Given the description of an element on the screen output the (x, y) to click on. 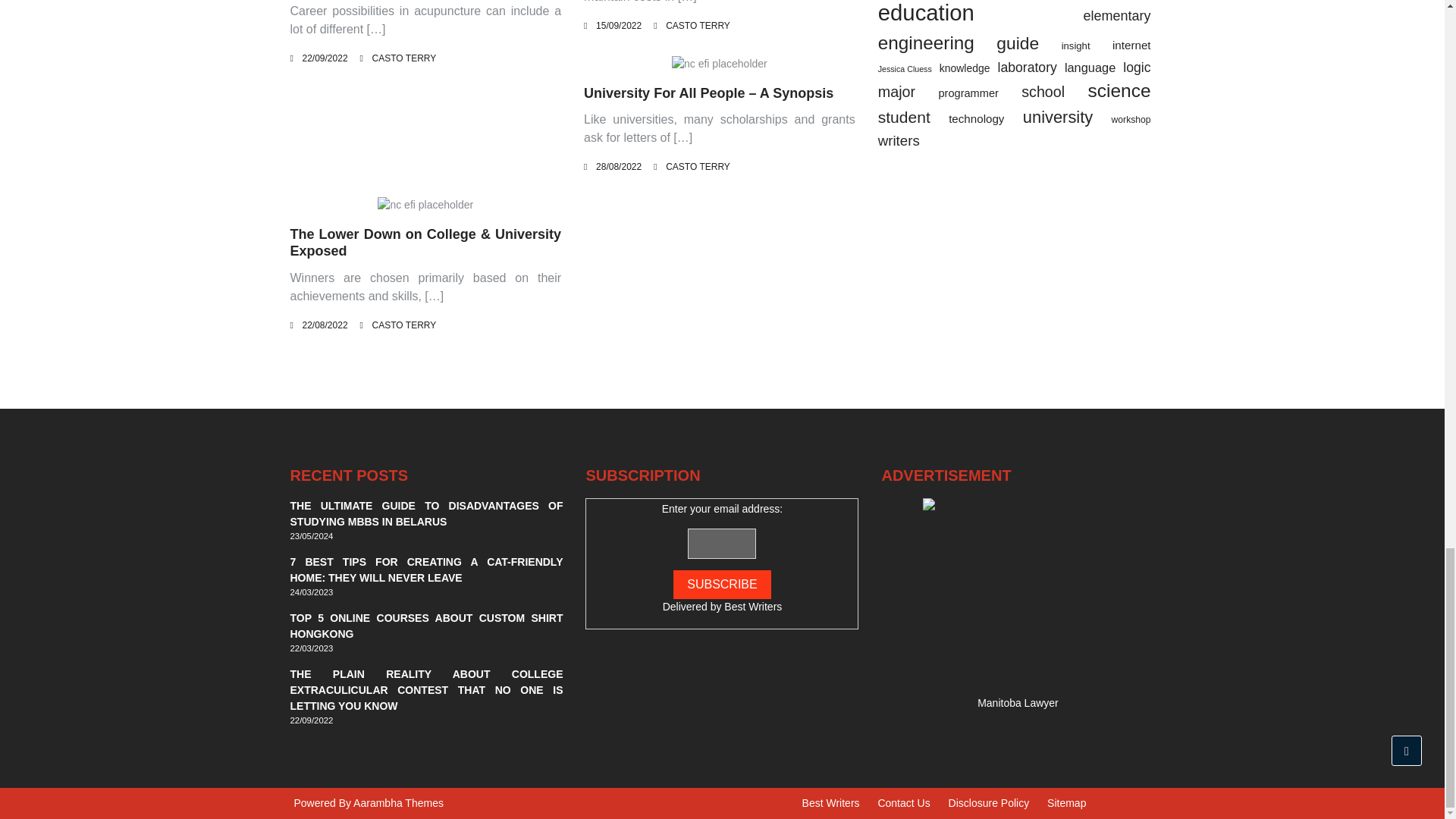
University For All People - A Synopsis 7 (719, 64)
Subscribe (721, 584)
CASTO TERRY (697, 166)
CASTO TERRY (404, 325)
Paintball Games (1017, 592)
CASTO TERRY (697, 25)
CASTO TERRY (404, 58)
